Given the description of an element on the screen output the (x, y) to click on. 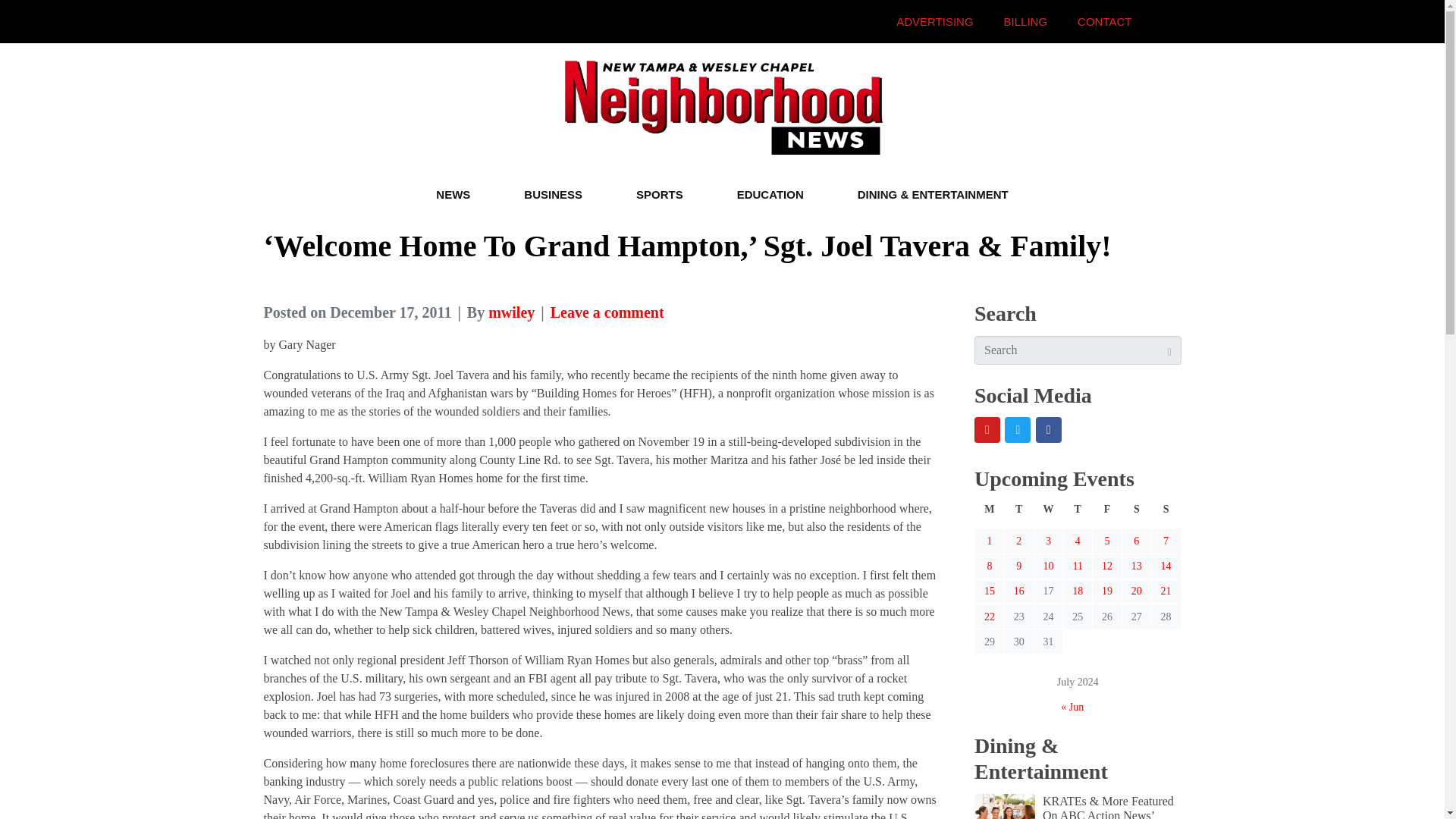
BUSINESS (552, 194)
Wednesday (1047, 514)
Sunday (1165, 514)
Tuesday (1018, 514)
Friday (1107, 514)
NEWS (452, 194)
EDUCATION (770, 194)
CONTACT (1104, 21)
Saturday (1136, 514)
ADVERTISING (934, 21)
BILLING (1025, 21)
Thursday (1077, 514)
SPORTS (659, 194)
Monday (989, 514)
